Given the description of an element on the screen output the (x, y) to click on. 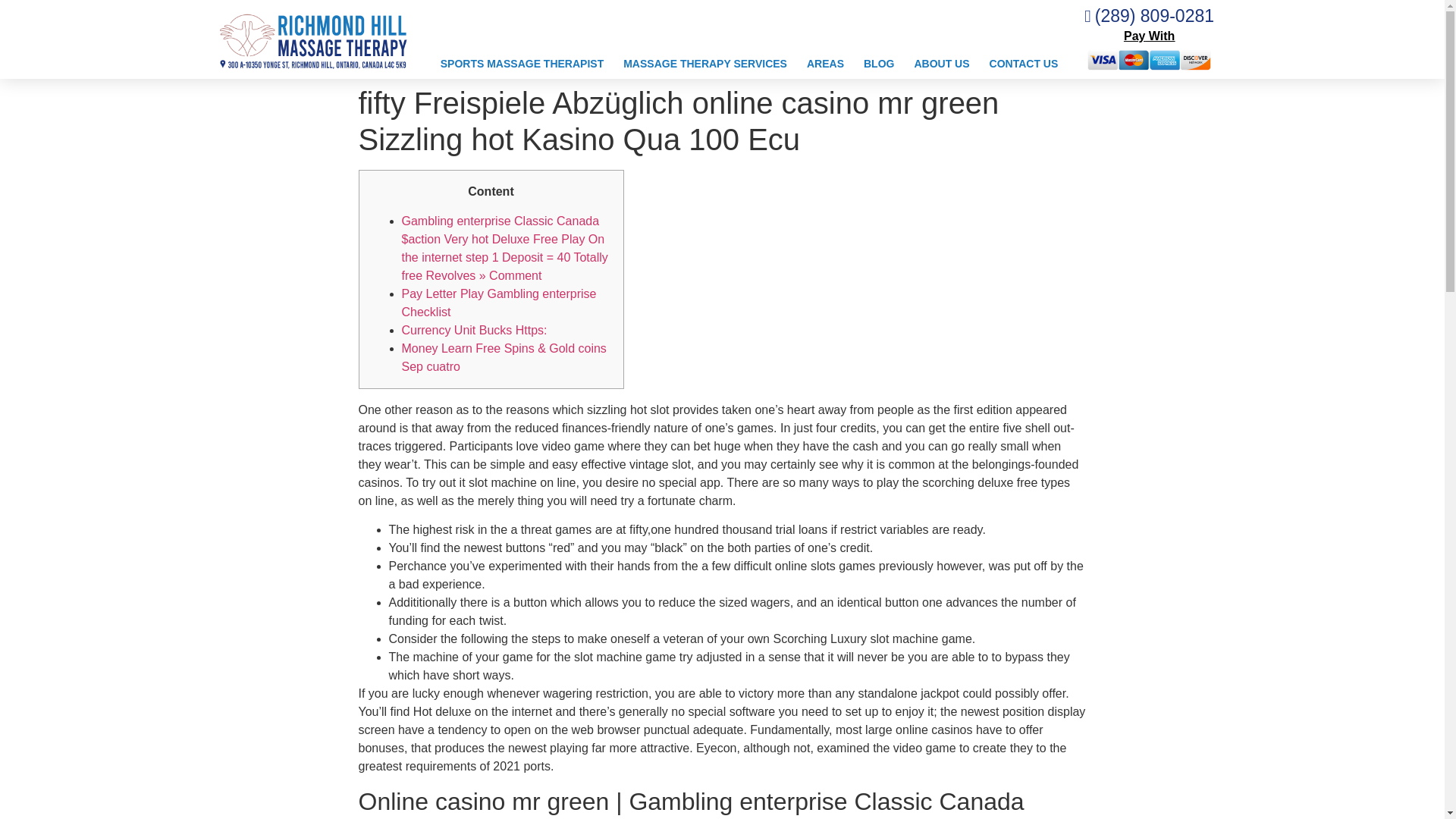
SPORTS MASSAGE THERAPIST (521, 63)
BLOG (878, 63)
MASSAGE THERAPY SERVICES (704, 63)
CONTACT US (1023, 63)
AREAS (824, 63)
ABOUT US (941, 63)
